Given the description of an element on the screen output the (x, y) to click on. 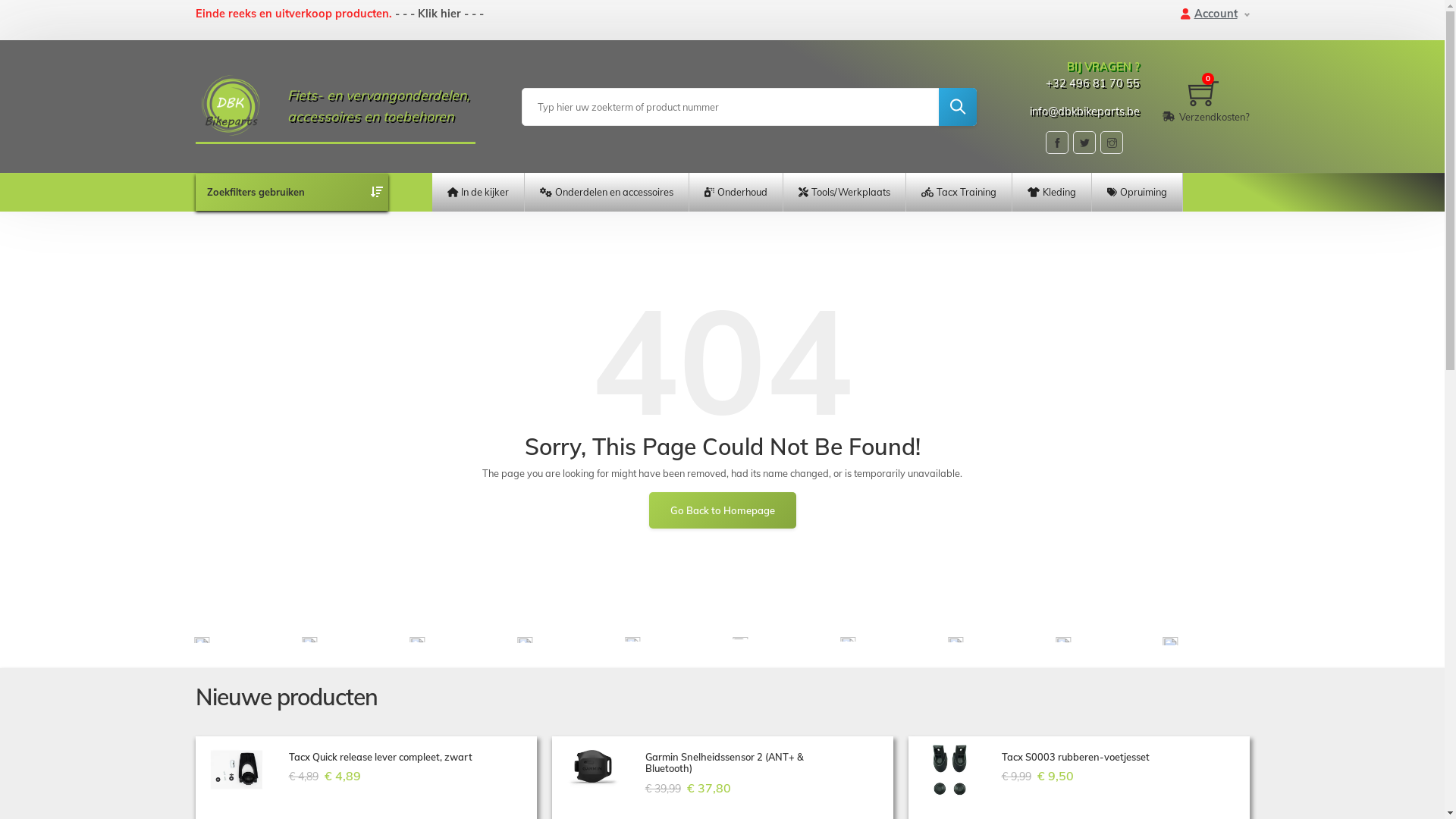
Tacx Training Element type: text (958, 191)
Onderhoud Element type: text (735, 191)
Kleding Element type: text (1051, 191)
Go Back to Homepage Element type: text (722, 510)
Onderdelen en accessoires Element type: text (606, 191)
Tools/Werkplaats Element type: text (844, 191)
Zoekfilters gebruiken Element type: text (255, 191)
0 Element type: text (1205, 93)
Tacx Quick release lever compleet, zwart Element type: text (390, 756)
  Verzendkosten? Element type: text (1205, 116)
In de kijker Element type: text (478, 191)
Garmin Snelheidssensor 2 (ANT+ & Bluetooth) Element type: text (746, 763)
- - - Klik hier - - - Element type: text (438, 13)
Home Element type: hover (238, 105)
Tacx S0003 rubberen-voetjesset Element type: text (1103, 756)
Overslaan en naar de inhoud gaan Element type: text (0, 0)
Account Element type: text (1220, 13)
Opruiming Element type: text (1137, 191)
